Given the description of an element on the screen output the (x, y) to click on. 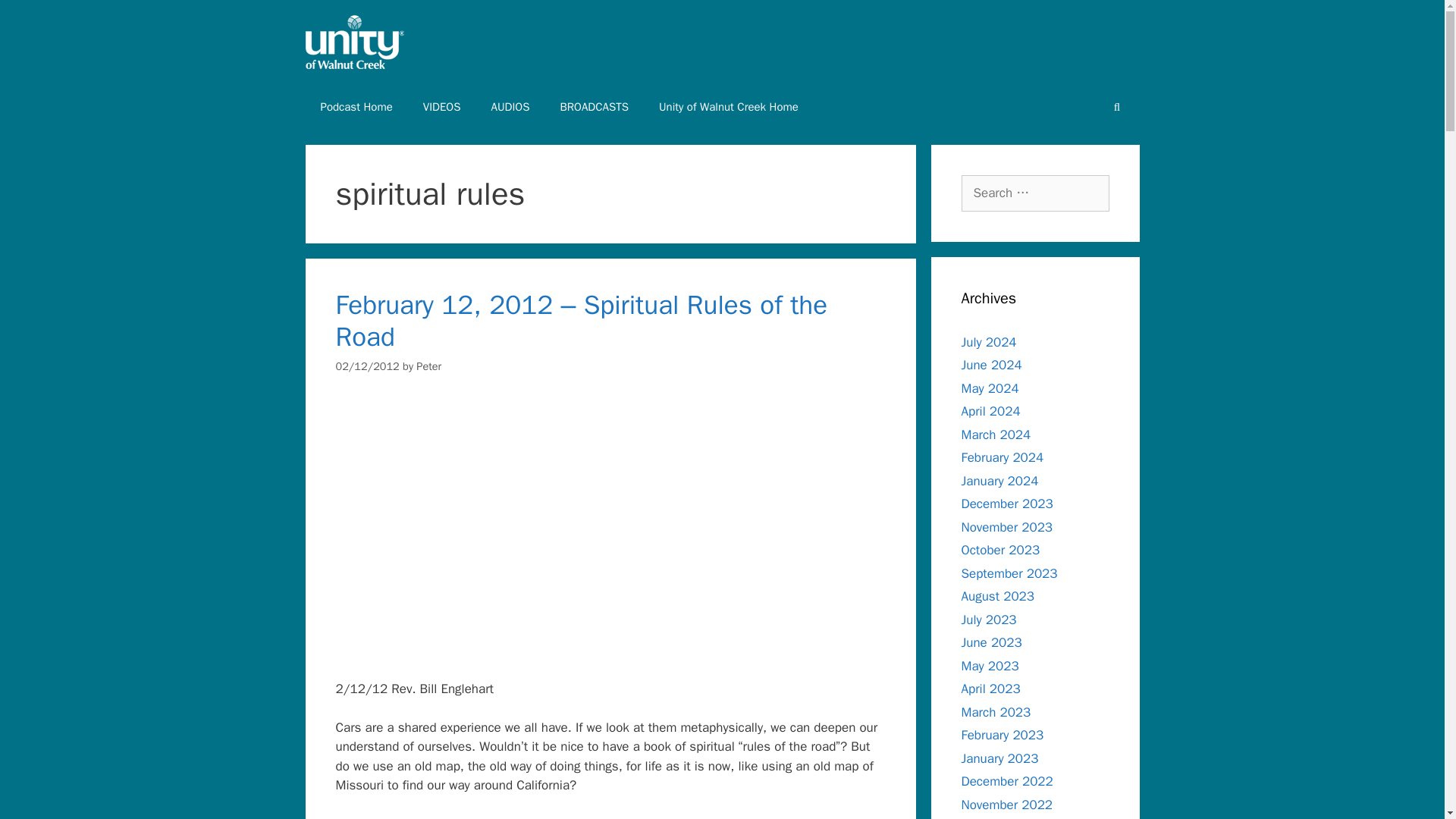
July 2024 (988, 341)
Search for: (1034, 193)
November 2023 (1006, 526)
May 2024 (989, 388)
VIDEOS (441, 106)
Search (35, 18)
Unity of Walnut Creek Home (728, 106)
BROADCASTS (593, 106)
Peter (428, 366)
December 2023 (1006, 503)
March 2024 (995, 433)
AUDIOS (510, 106)
January 2024 (999, 480)
February 2024 (1001, 457)
June 2024 (991, 365)
